Given the description of an element on the screen output the (x, y) to click on. 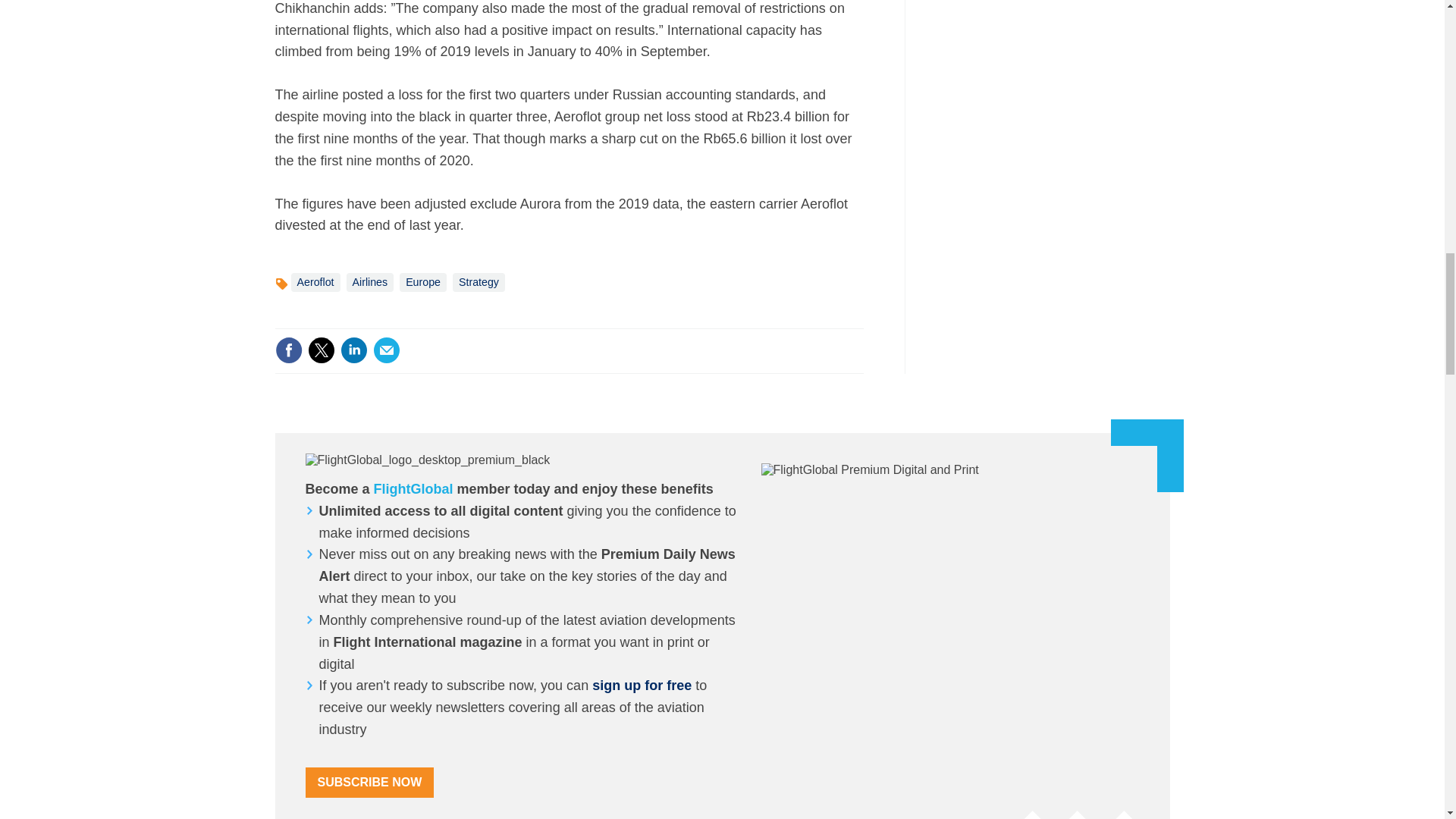
Share this on Facebook (288, 349)
Share this on Linked in (352, 349)
Share this on Twitter (320, 349)
Email this article (386, 349)
